Given the description of an element on the screen output the (x, y) to click on. 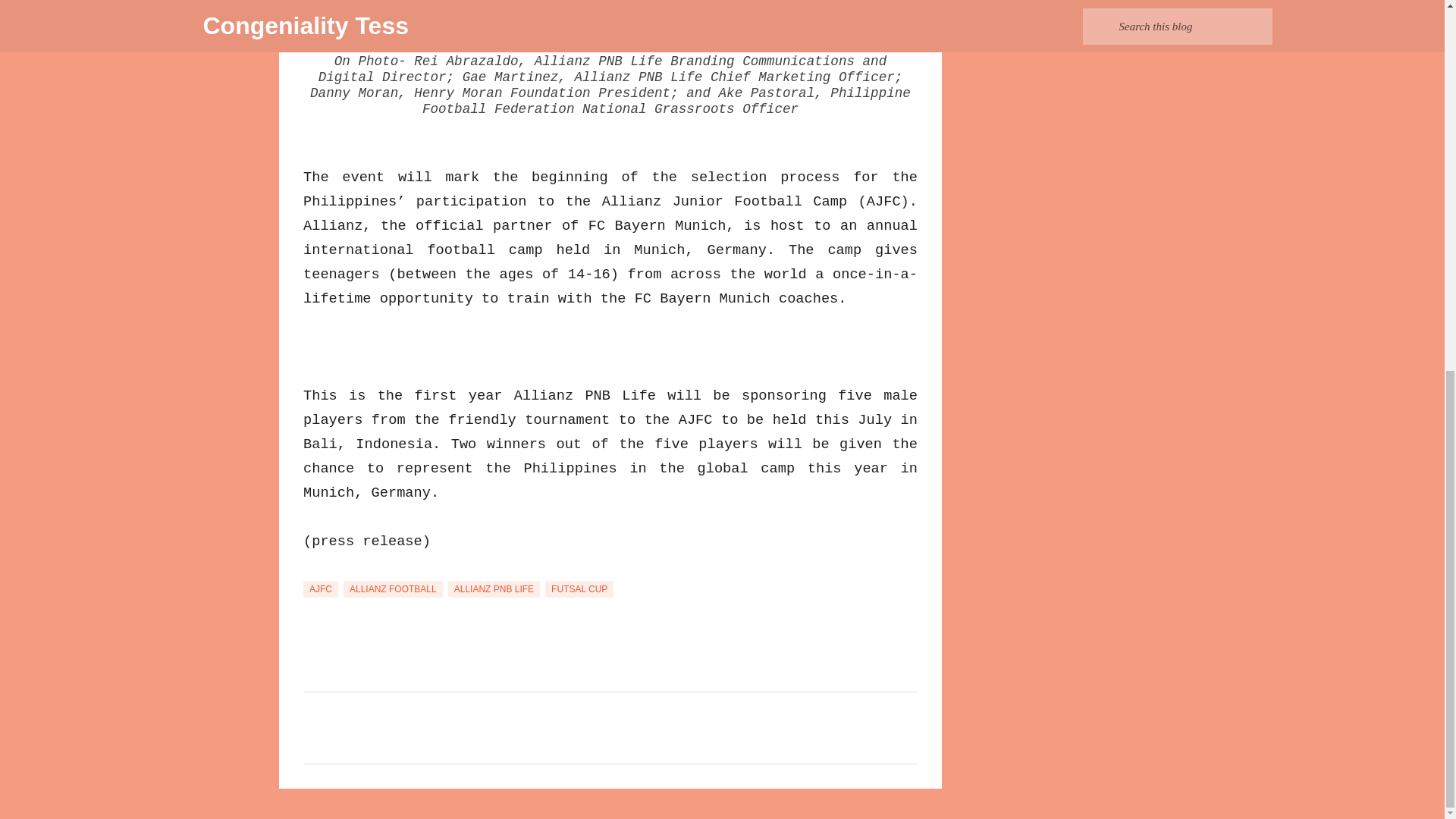
ALLIANZ PNB LIFE (494, 588)
ALLIANZ FOOTBALL (392, 588)
FUTSAL CUP (578, 588)
AJFC (319, 588)
